Given the description of an element on the screen output the (x, y) to click on. 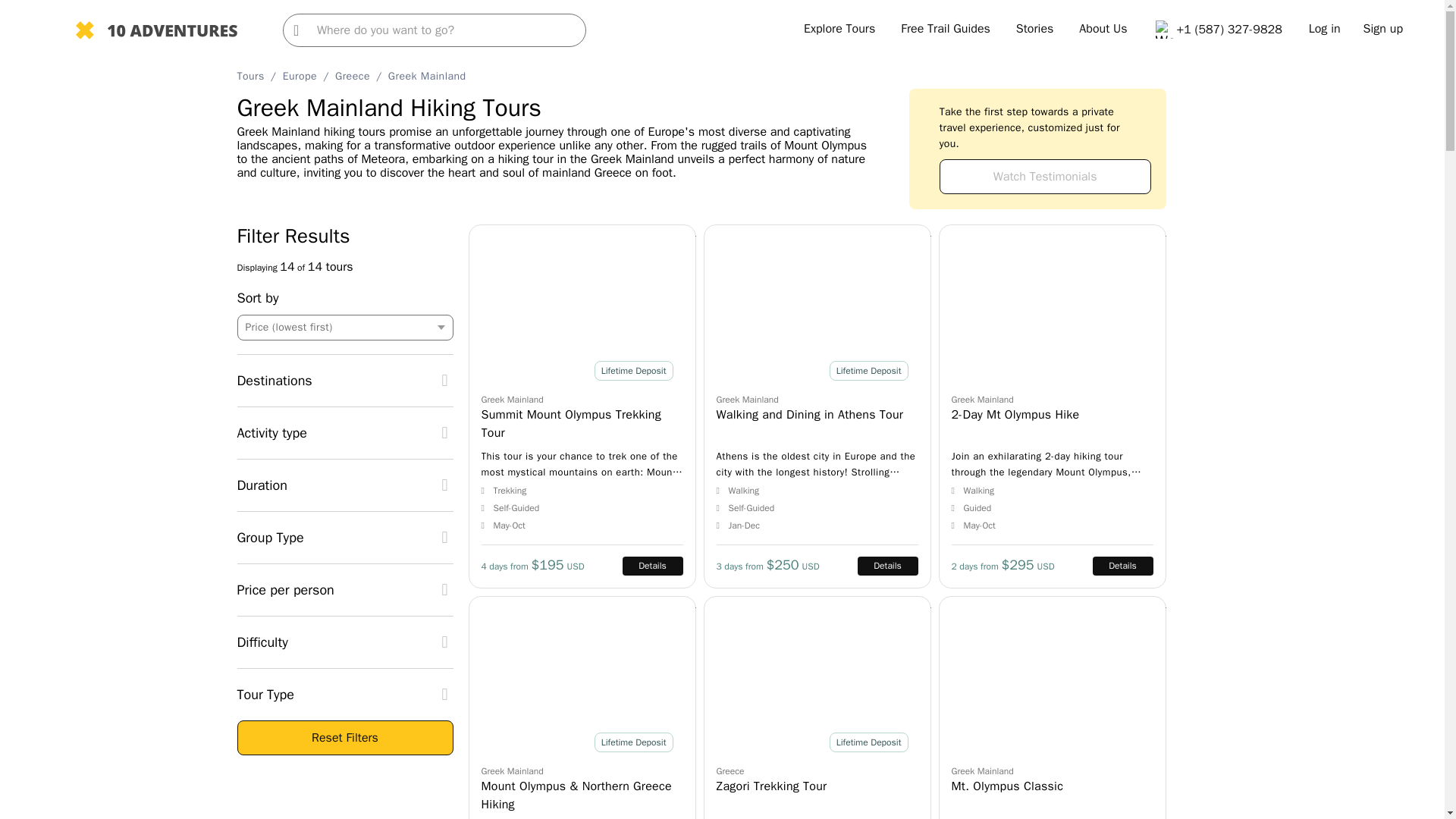
Free Trail Guides (945, 28)
Sign up (1382, 28)
Explore Tours (839, 28)
Open details for Mt. Olympus Classic (1052, 707)
About Us (1102, 28)
Watch Testimonials (1045, 176)
Europe (299, 75)
Reset Filters (343, 737)
Greece (351, 75)
Log in (1324, 28)
Stories (1034, 28)
Open details for Zagori Trekking Tour (817, 707)
Tours (249, 75)
10Adventures.com (156, 31)
Greek Mainland (426, 75)
